Given the description of an element on the screen output the (x, y) to click on. 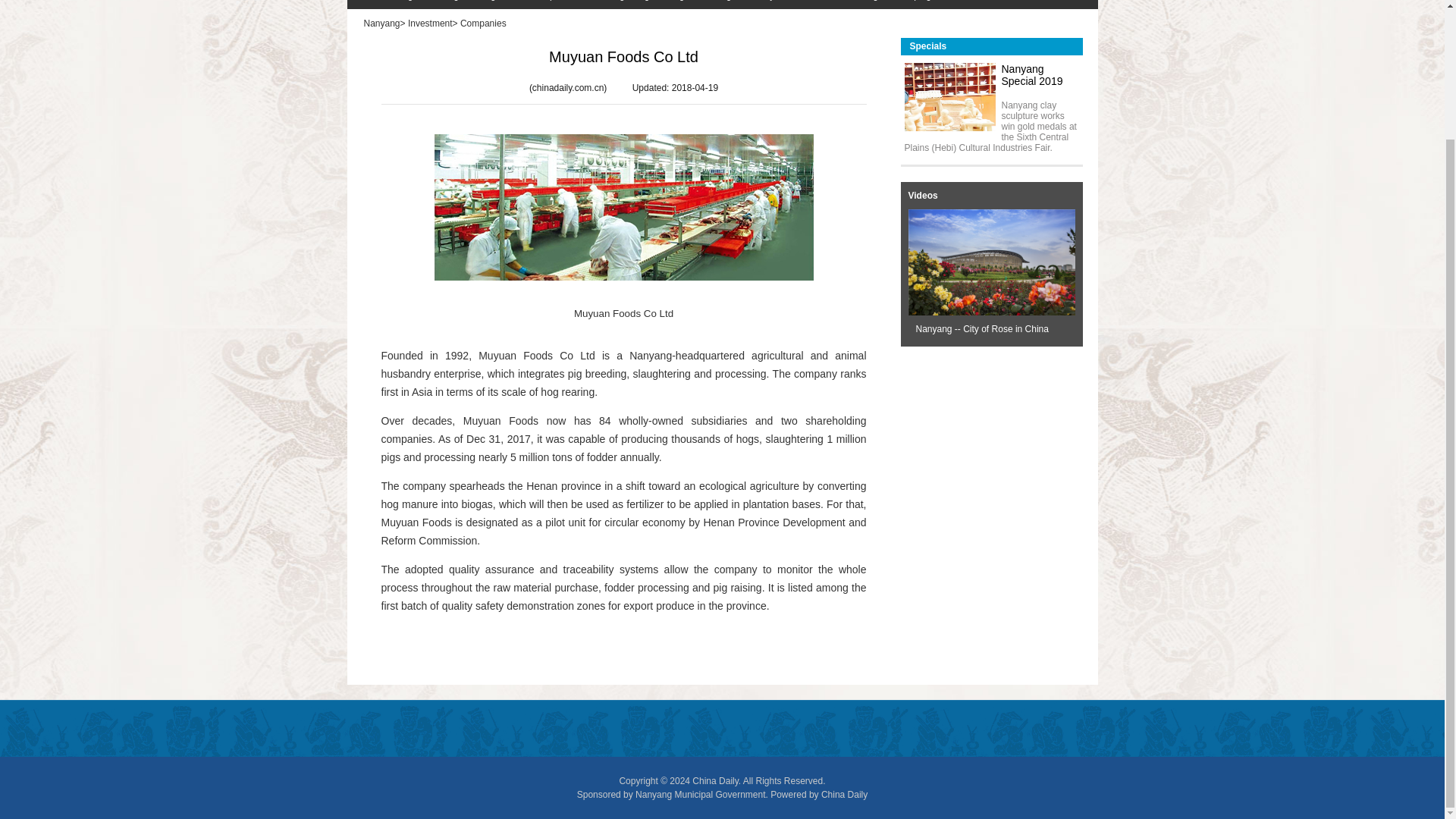
Fangcheng (618, 4)
Dengzhou (486, 4)
Wancheng (384, 4)
Xixia (570, 4)
Wolong (435, 4)
Sheqi (534, 4)
